Given the description of an element on the screen output the (x, y) to click on. 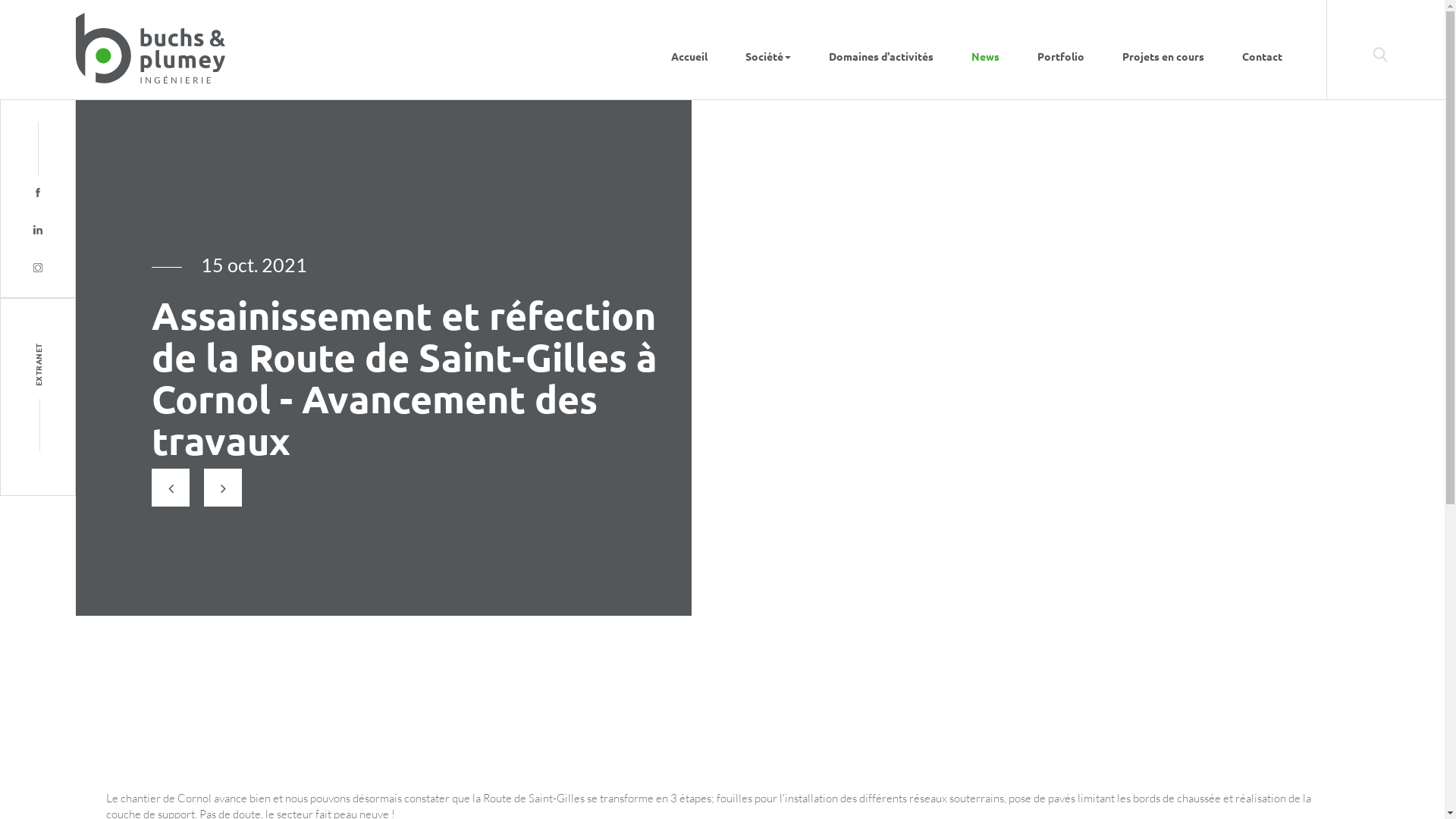
Suivant Element type: text (222, 487)
News Element type: text (985, 50)
Contact Element type: text (1262, 50)
Portfolio Element type: text (1060, 50)
Accueil Element type: text (689, 50)
Projets en cours Element type: text (1163, 50)
